Given the description of an element on the screen output the (x, y) to click on. 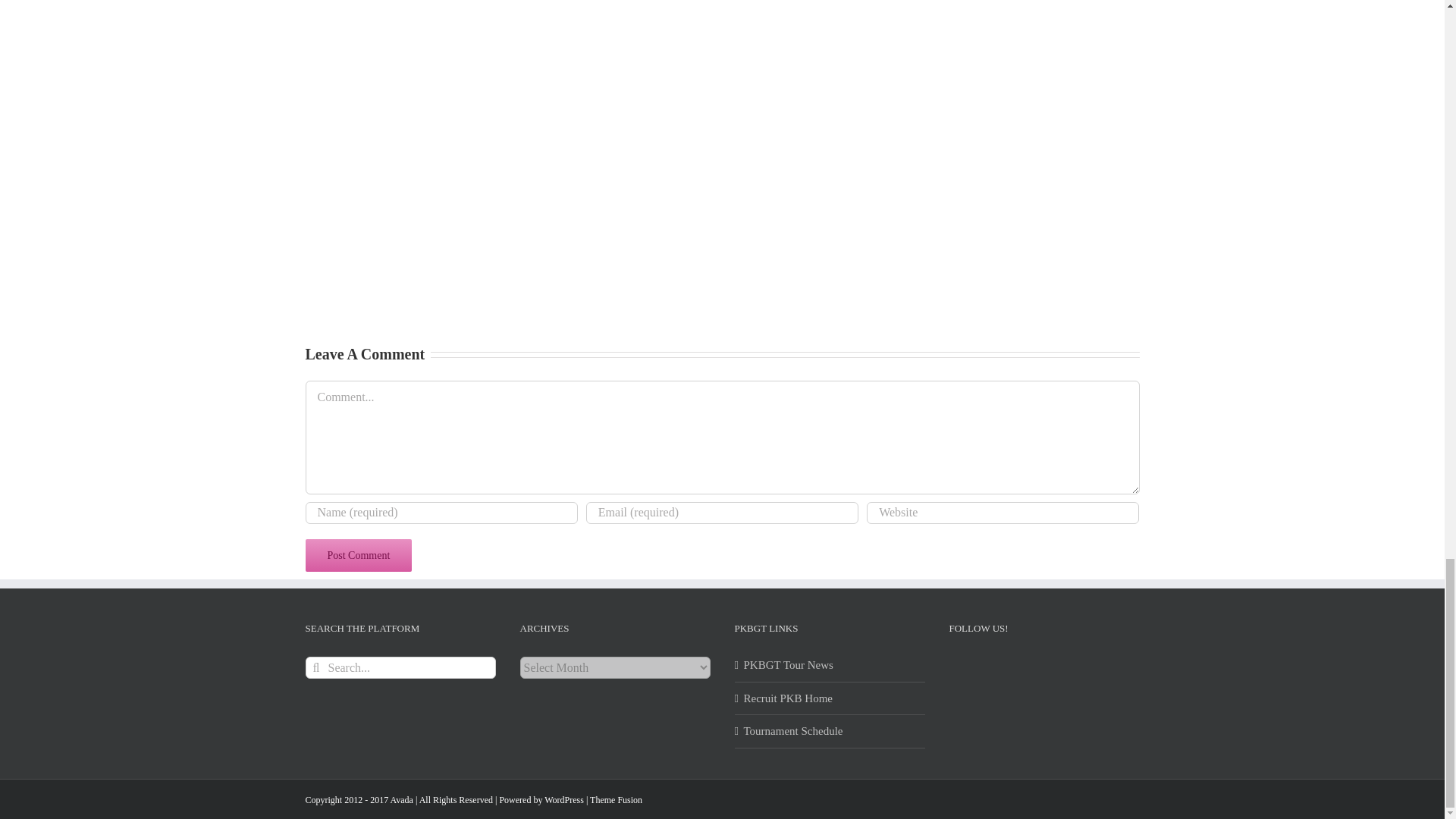
Twitter (993, 668)
Updated news on events, tour news and players (829, 665)
Facebook (961, 668)
Instagram (1024, 668)
Post Comment (358, 554)
